Given the description of an element on the screen output the (x, y) to click on. 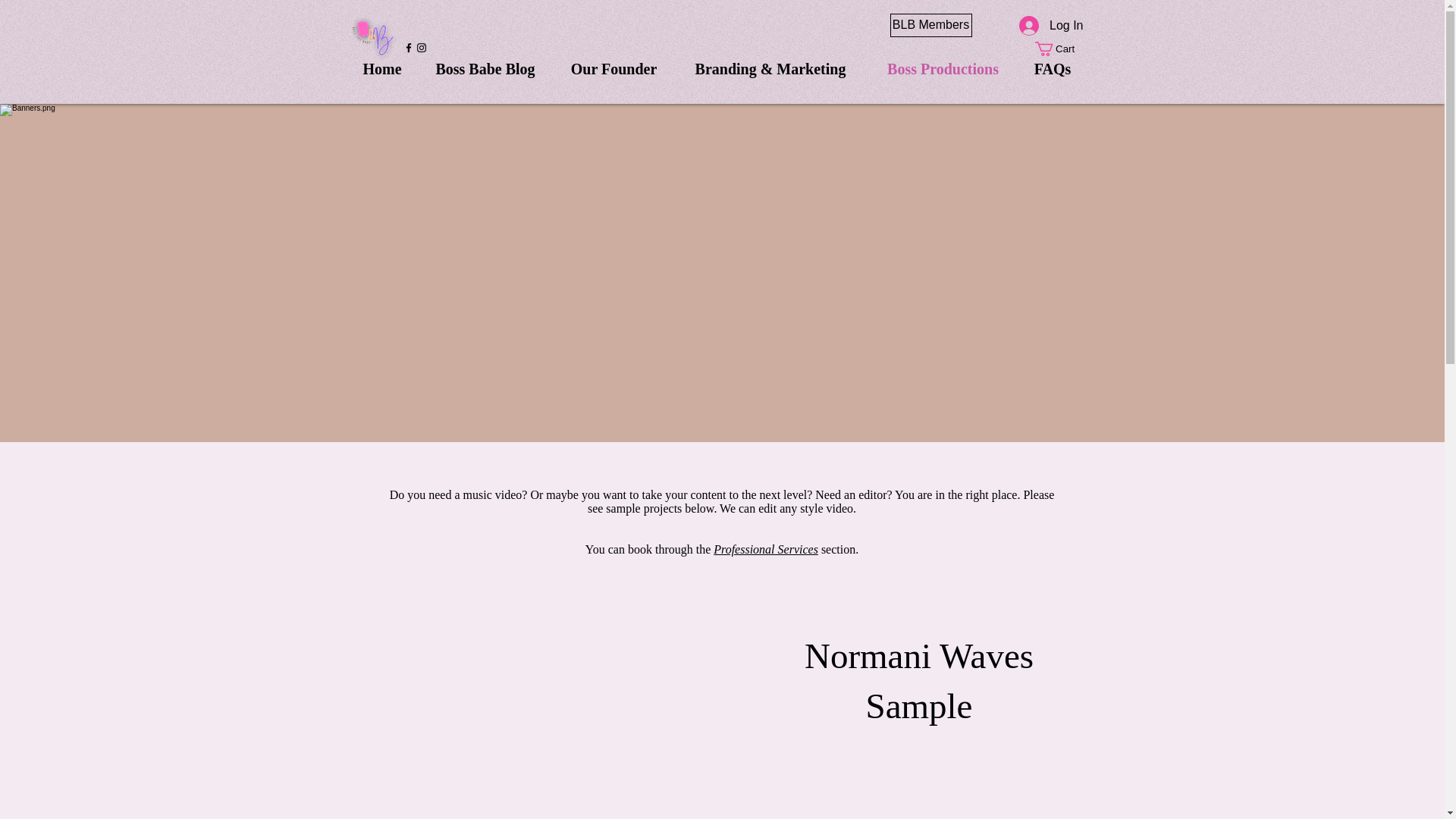
Home (382, 64)
Our Founder (614, 64)
Cart (1061, 48)
BLB Members (930, 24)
Boss Productions (942, 64)
Log In (1051, 25)
Professional Services (765, 549)
FAQs (1051, 64)
Cart (1061, 48)
Boss Babe Blog (484, 64)
